Given the description of an element on the screen output the (x, y) to click on. 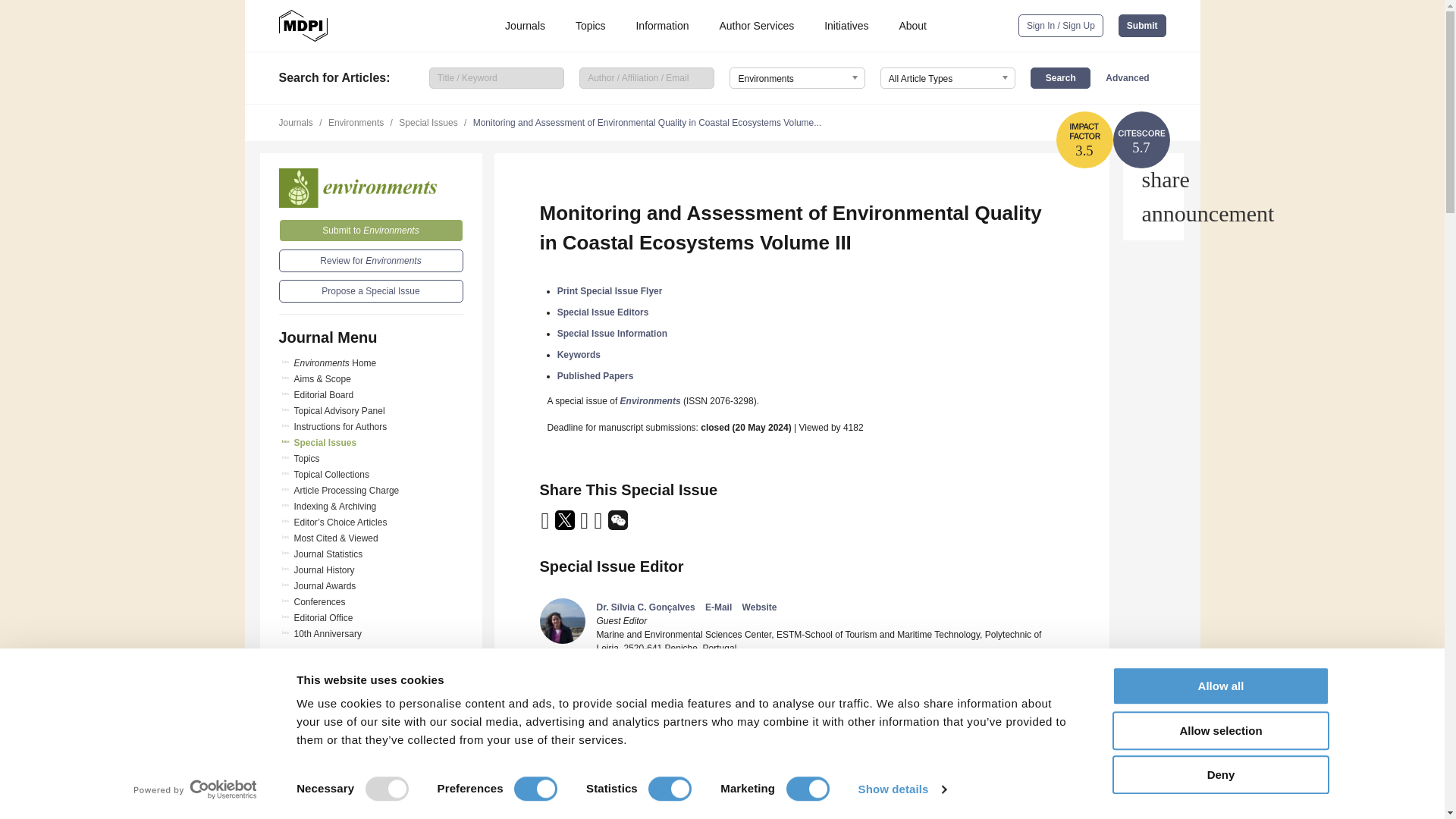
Search (1060, 77)
Go (371, 753)
Show details (900, 789)
Search (1060, 77)
